Given the description of an element on the screen output the (x, y) to click on. 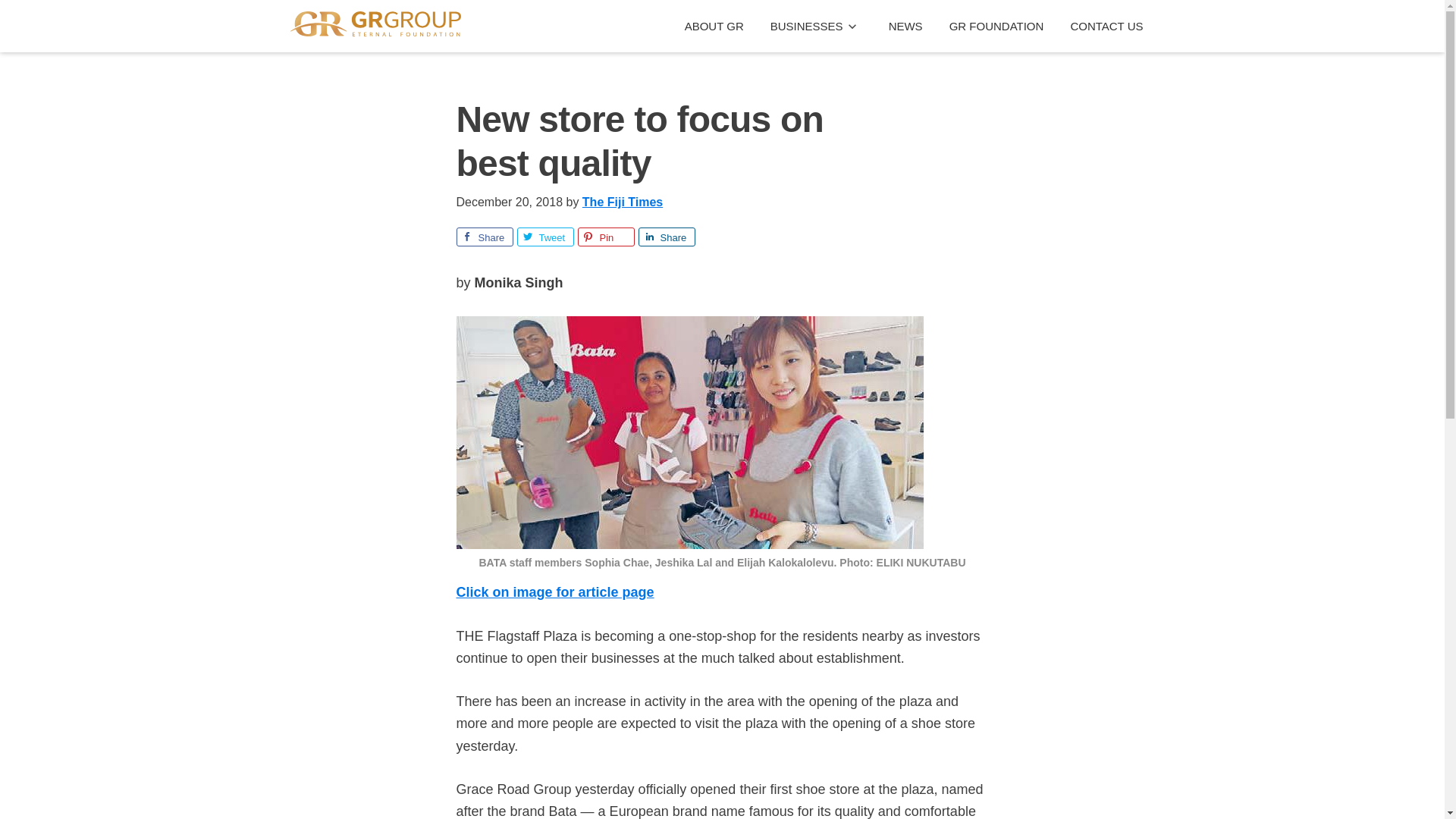
Share (667, 236)
Click on image for article page (555, 591)
CONTACT US (1106, 25)
Tweet (544, 236)
BUSINESSES (815, 25)
Pin (606, 236)
The Fiji Times (622, 201)
NEWS (905, 25)
ABOUT GR (713, 25)
GR FOUNDATION (996, 25)
Share (485, 236)
